Given the description of an element on the screen output the (x, y) to click on. 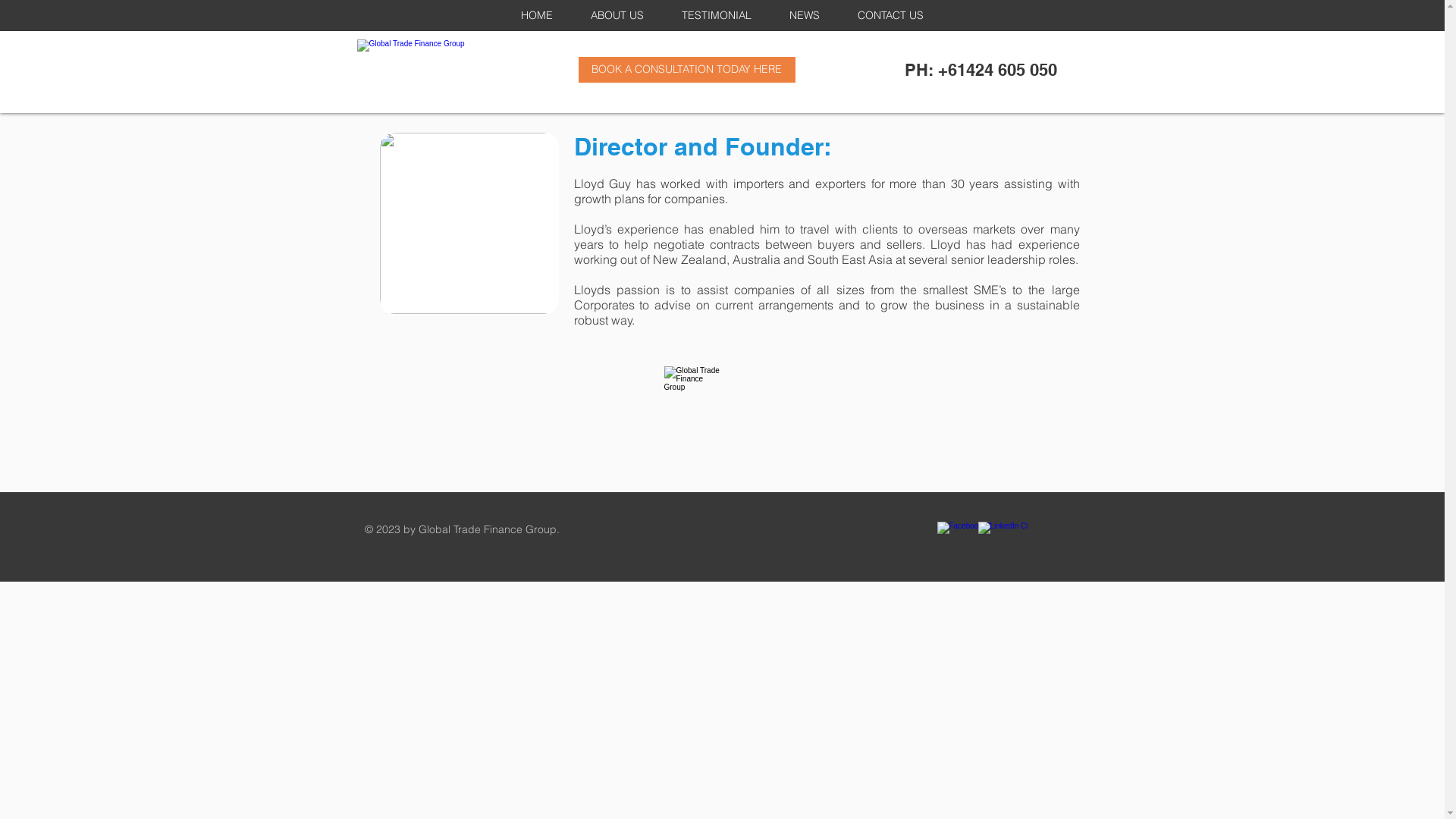
CONTACT US Element type: text (890, 15)
ABOUT US Element type: text (616, 15)
HOME Element type: text (536, 15)
Embedded Content Element type: hover (1235, 55)
NEWS Element type: text (804, 15)
BOOK A CONSULTATION TODAY HERE Element type: text (685, 69)
TESTIMONIAL Element type: text (716, 15)
